Given the description of an element on the screen output the (x, y) to click on. 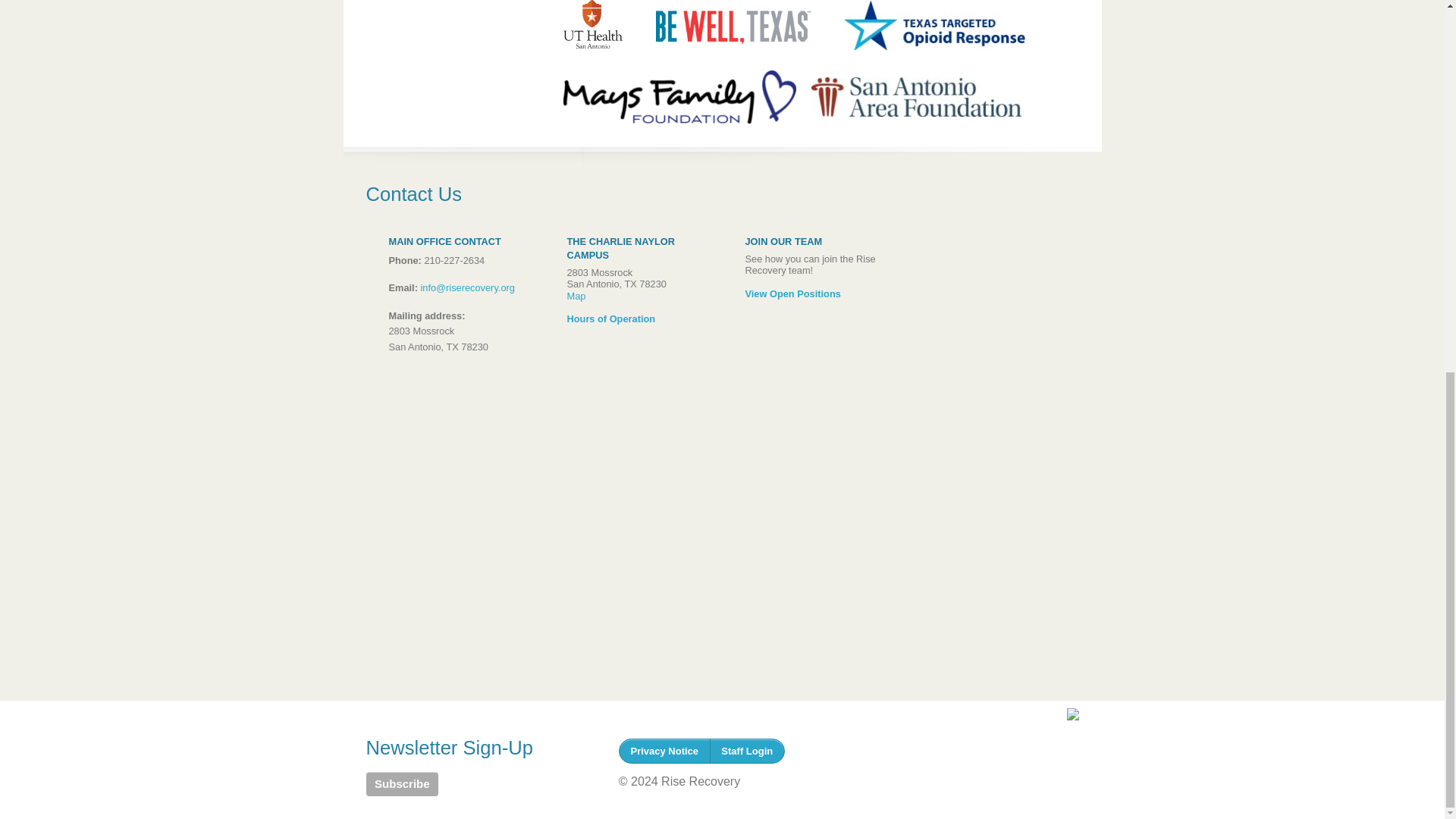
Texas Targeted Opioid Response (933, 29)
Mays Family Foundation (678, 97)
San Antonio Area Foundation (916, 96)
